Given the description of an element on the screen output the (x, y) to click on. 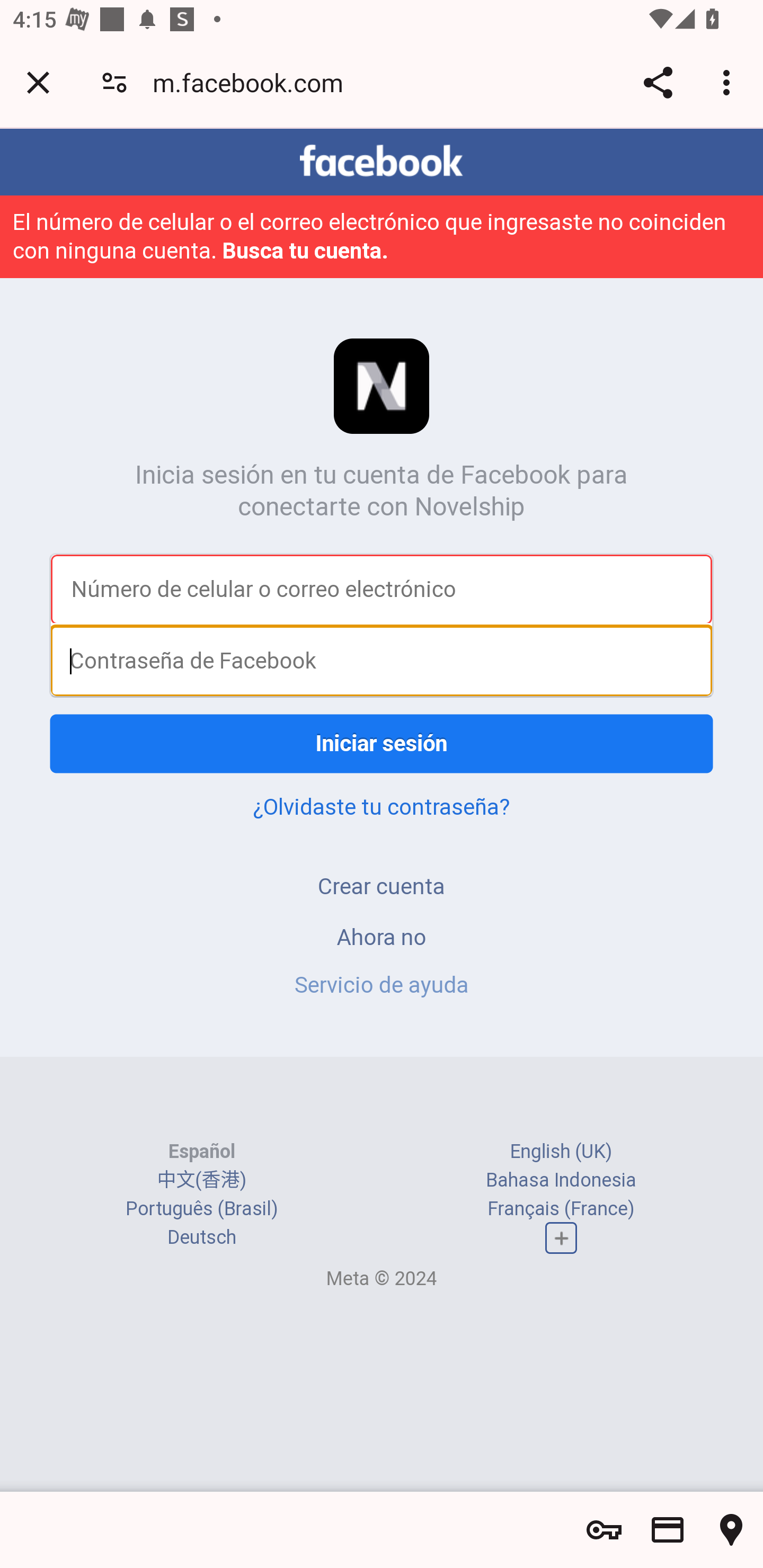
Close tab (38, 82)
Share (657, 82)
Customize and control Google Chrome (729, 82)
Connection is secure (114, 81)
m.facebook.com (254, 81)
facebook (381, 160)
Busca tu cuenta. (305, 249)
Iniciar sesión (381, 744)
¿Olvidaste tu contraseña? (381, 806)
Crear cuenta (381, 885)
Ahora no (381, 936)
Servicio de ayuda (381, 983)
English (UK) (560, 1151)
中文(香港) (201, 1179)
Bahasa Indonesia (560, 1179)
Português (Brasil) (201, 1207)
Français (France) (560, 1207)
Lista completa de idiomas (560, 1237)
Deutsch (201, 1236)
Show saved passwords and password options (603, 1530)
Show saved payment methods (667, 1530)
Show saved addresses (731, 1530)
